Given the description of an element on the screen output the (x, y) to click on. 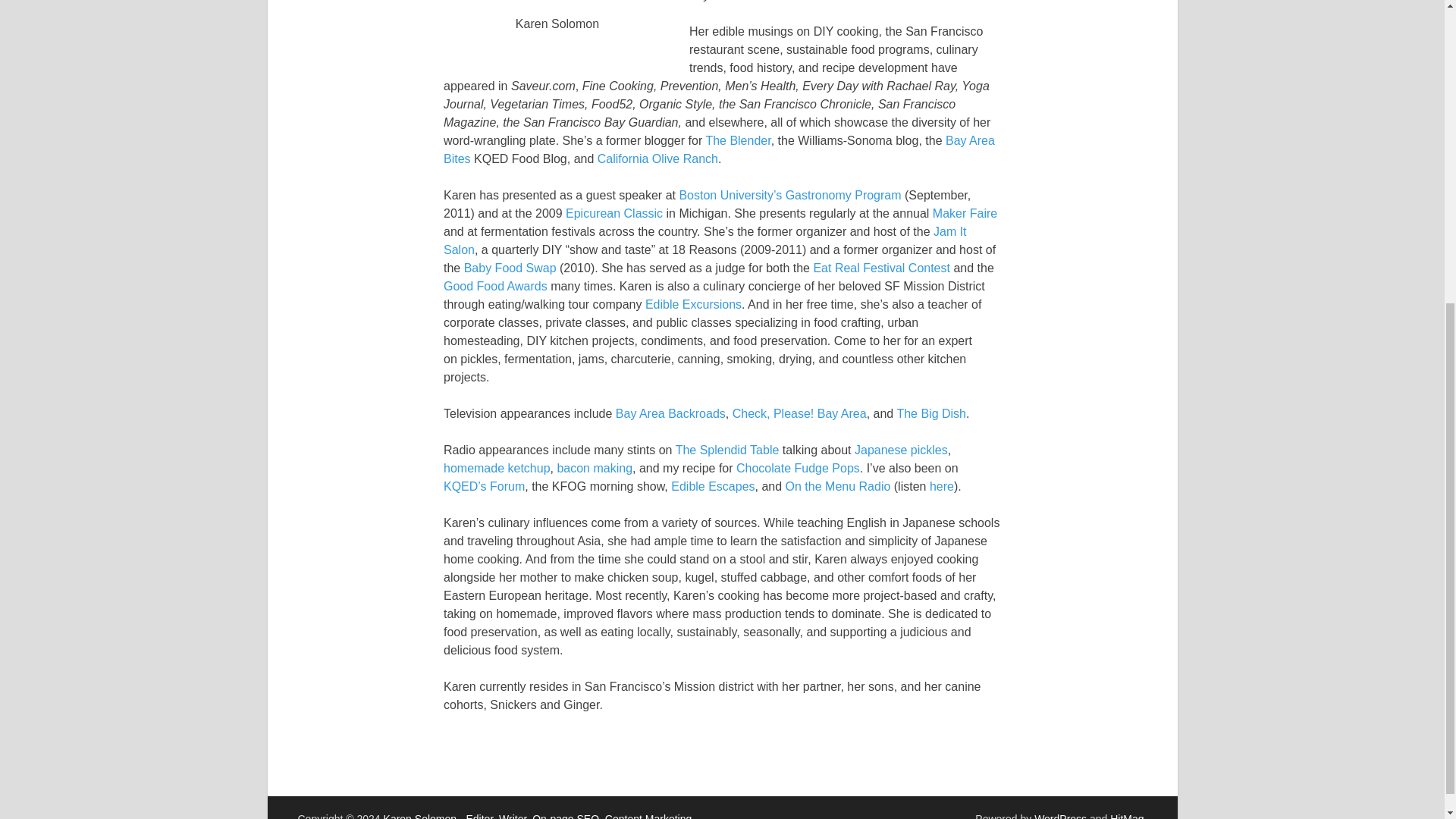
Good Food Awards (495, 286)
California Olive Ranch (656, 158)
The Splendid Table (726, 449)
Edible Excursions (693, 304)
Maker Faire (965, 213)
Bay Area Backroads (670, 413)
Eat Real Festival Contest (881, 267)
Bay Area Bites (719, 149)
The Blender (737, 140)
The Big Dish (931, 413)
